Given the description of an element on the screen output the (x, y) to click on. 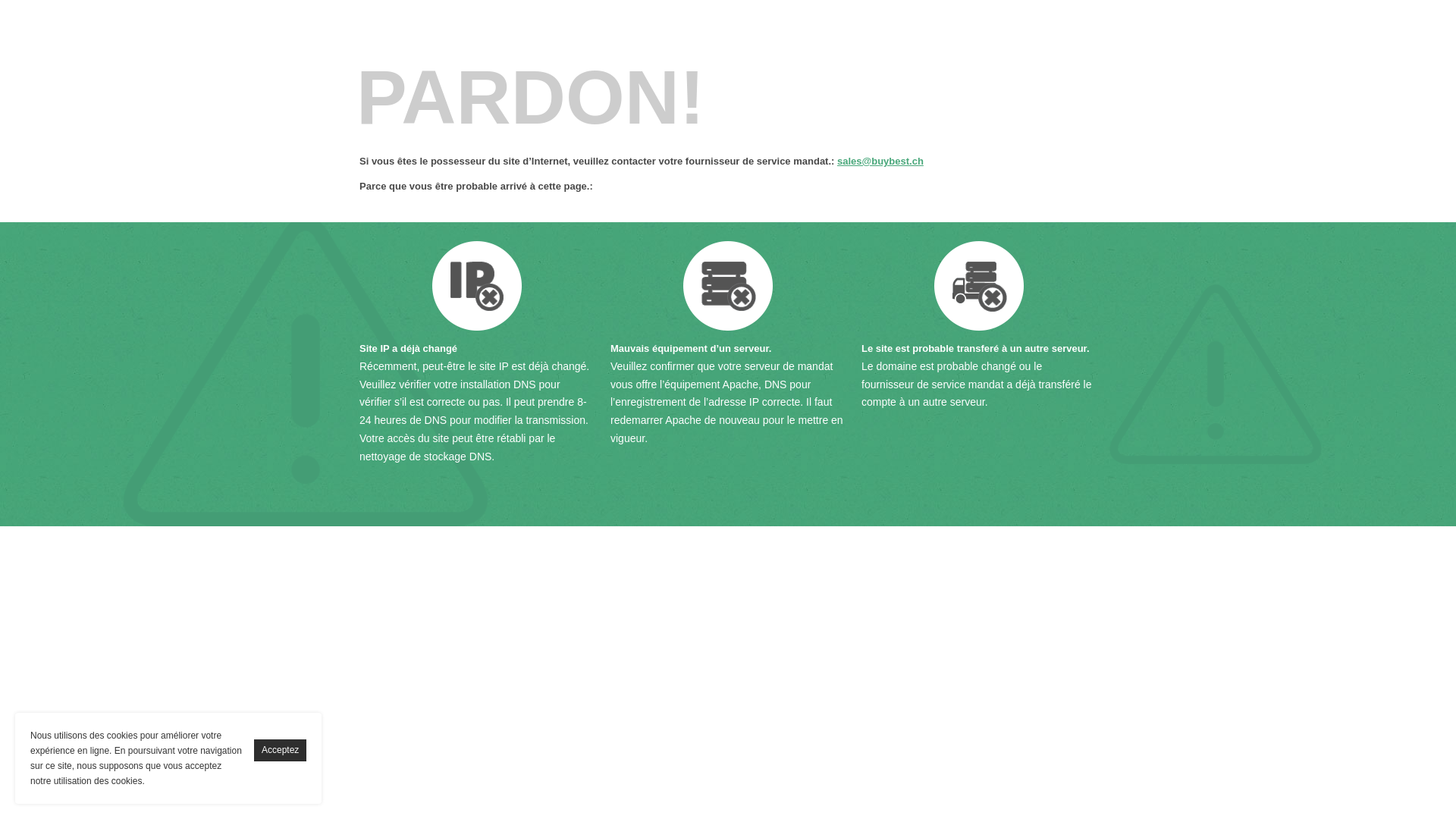
sales@buybest.ch Element type: text (880, 160)
